Given the description of an element on the screen output the (x, y) to click on. 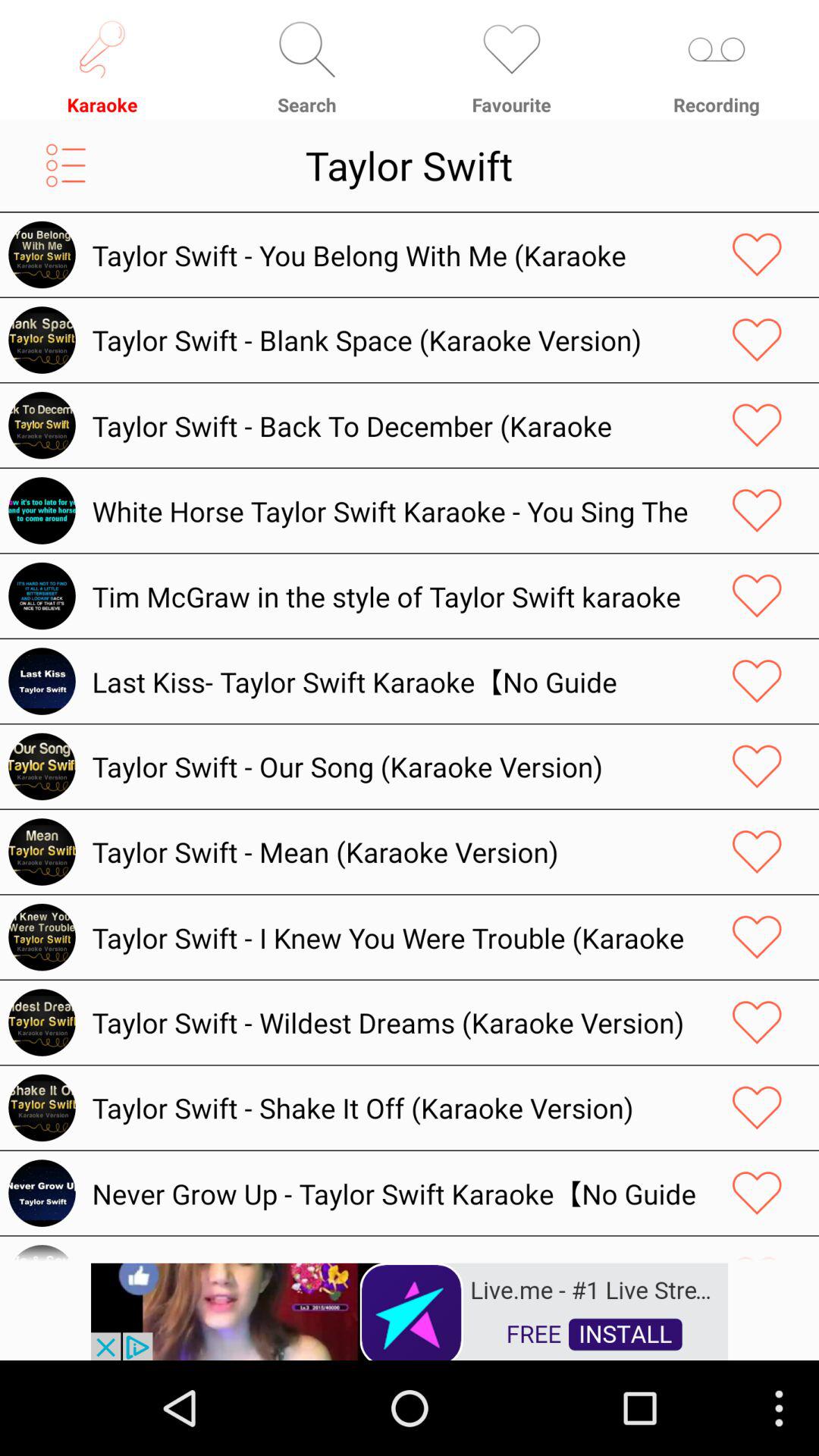
like a music (756, 851)
